Given the description of an element on the screen output the (x, y) to click on. 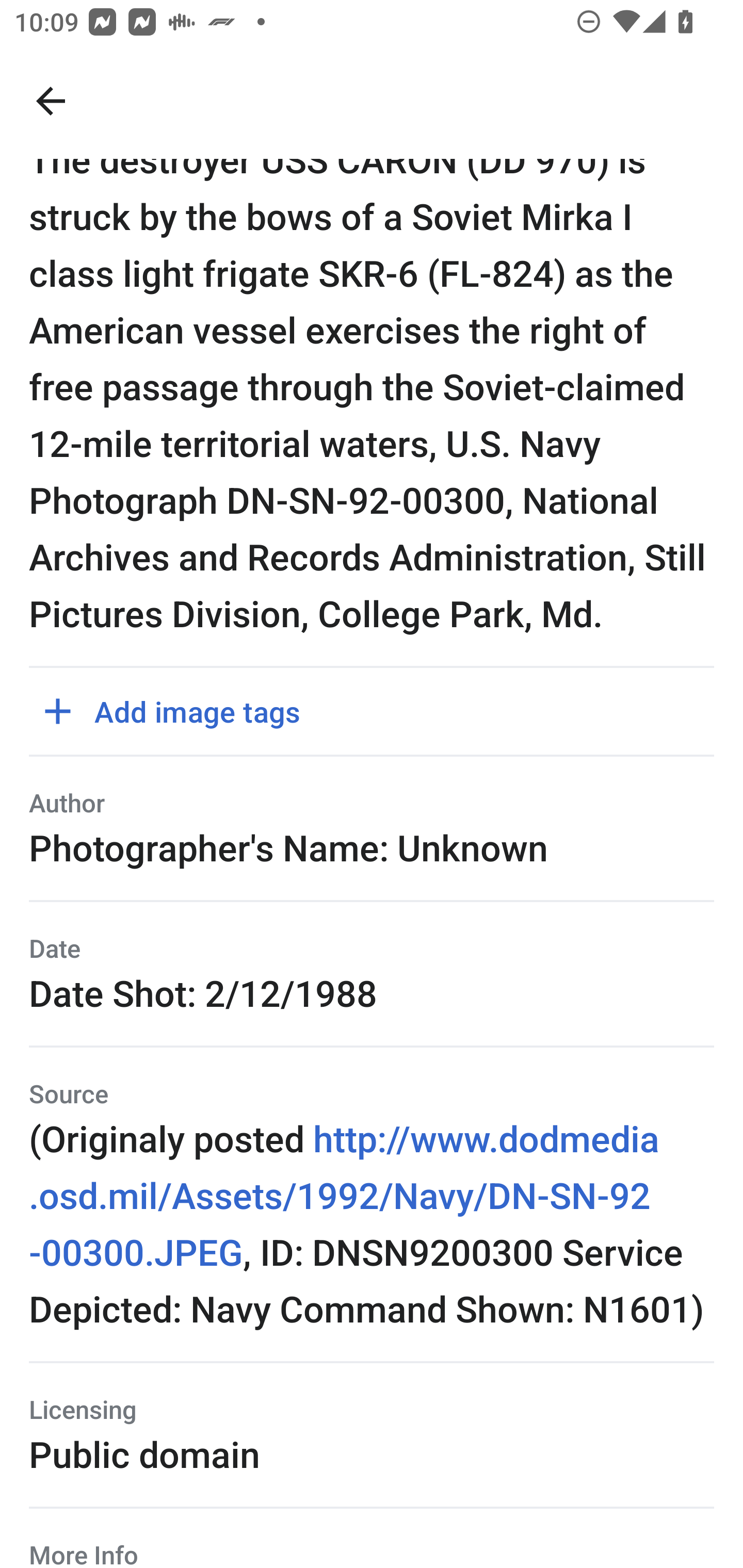
Navigate up (50, 101)
Add image tags (178, 710)
